Given the description of an element on the screen output the (x, y) to click on. 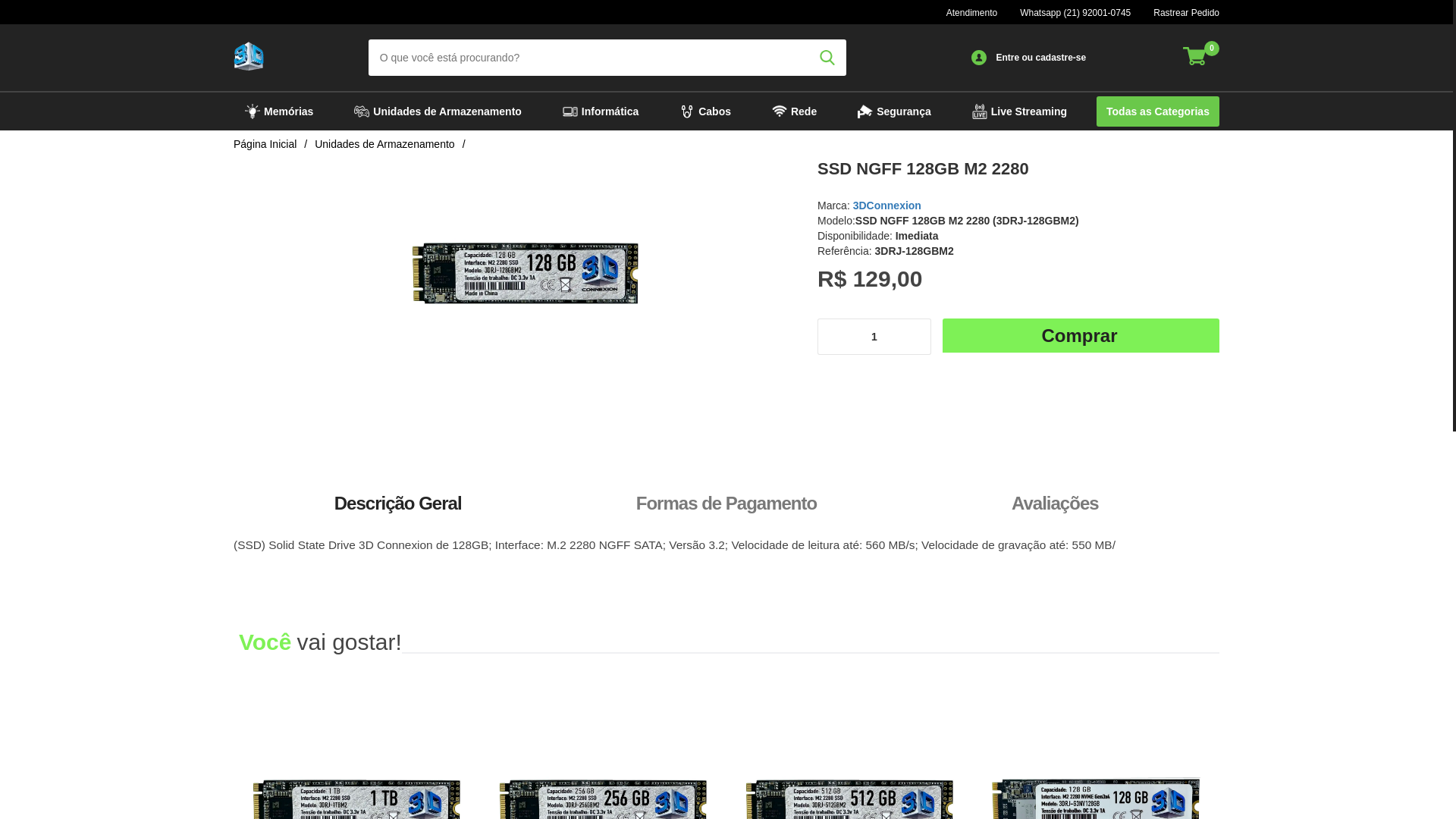
3DCONNEXION Element type: hover (248, 55)
3DCONNEXION Element type: hover (248, 57)
Comprar Element type: text (1080, 336)
Formas de Pagamento Element type: text (726, 503)
Rastrear Pedido Element type: text (1186, 12)
Pedidos Element type: hover (978, 57)
Whatsapp (21) 92001-0745 Element type: text (1074, 12)
0 Element type: text (1201, 56)
Live Streaming Element type: text (1019, 112)
buscar Element type: text (827, 57)
3DConnexion Element type: text (887, 205)
Unidades de Armazenamento Element type: text (437, 112)
SSD NGFF 128GB M2 2280 Element type: hover (525, 276)
Cabos Element type: text (705, 112)
Rede Element type: text (794, 112)
Unidades de Armazenamento Element type: text (384, 143)
Atendimento Element type: text (971, 12)
